Given the description of an element on the screen output the (x, y) to click on. 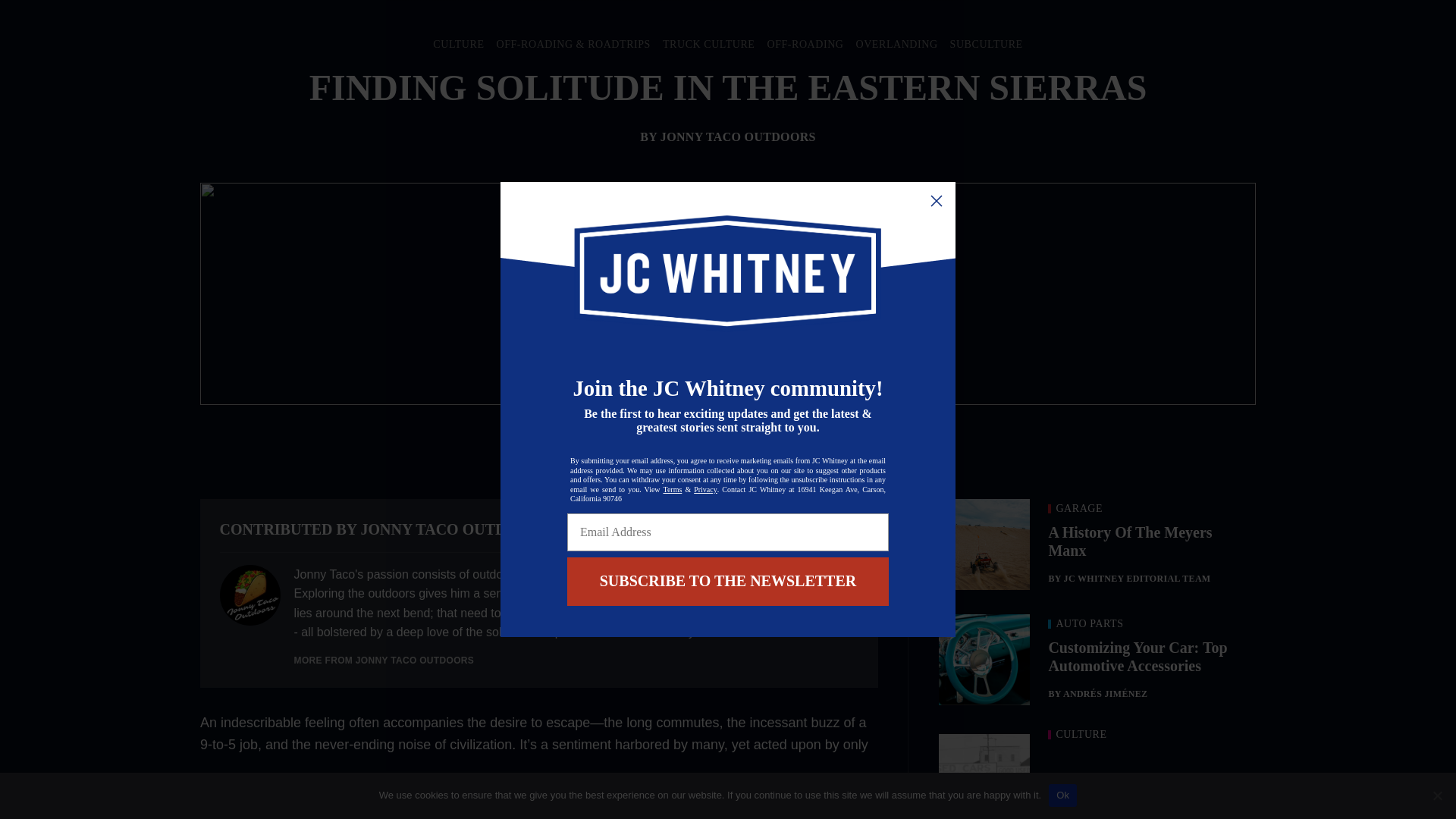
OVERLANDING (896, 44)
MORE FROM JONNY TACO OUTDOORS (384, 660)
OFF-ROADING (805, 44)
VIEW AUTHOR WEBSITE (794, 528)
SUBCULTURE (986, 44)
CULTURE (457, 44)
BY JONNY TACO OUTDOORS (727, 136)
TRUCK CULTURE (708, 44)
